Given the description of an element on the screen output the (x, y) to click on. 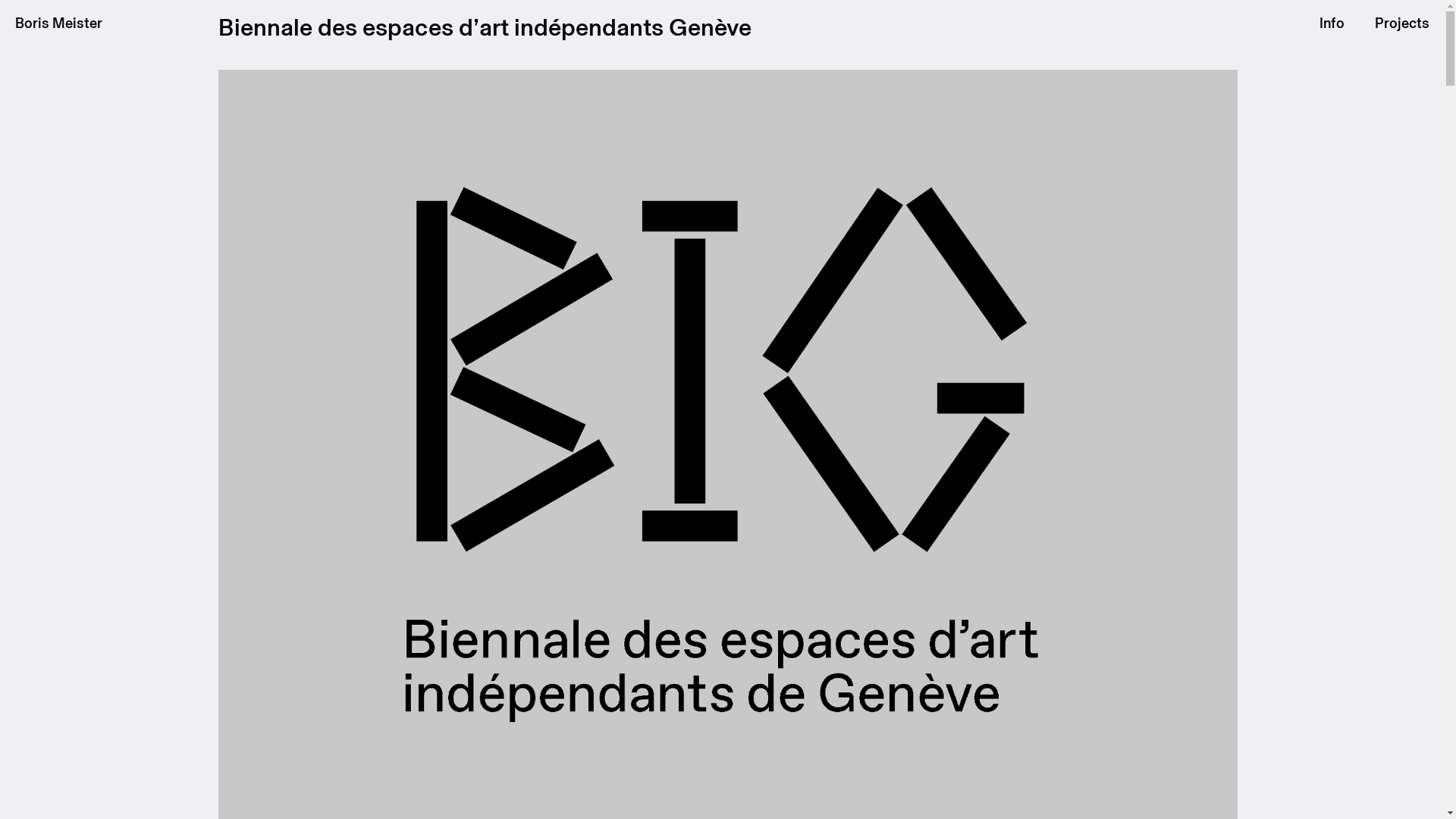
Info Element type: text (1331, 23)
Projects Element type: text (1401, 23)
Boris Meister Element type: text (58, 23)
